Given the description of an element on the screen output the (x, y) to click on. 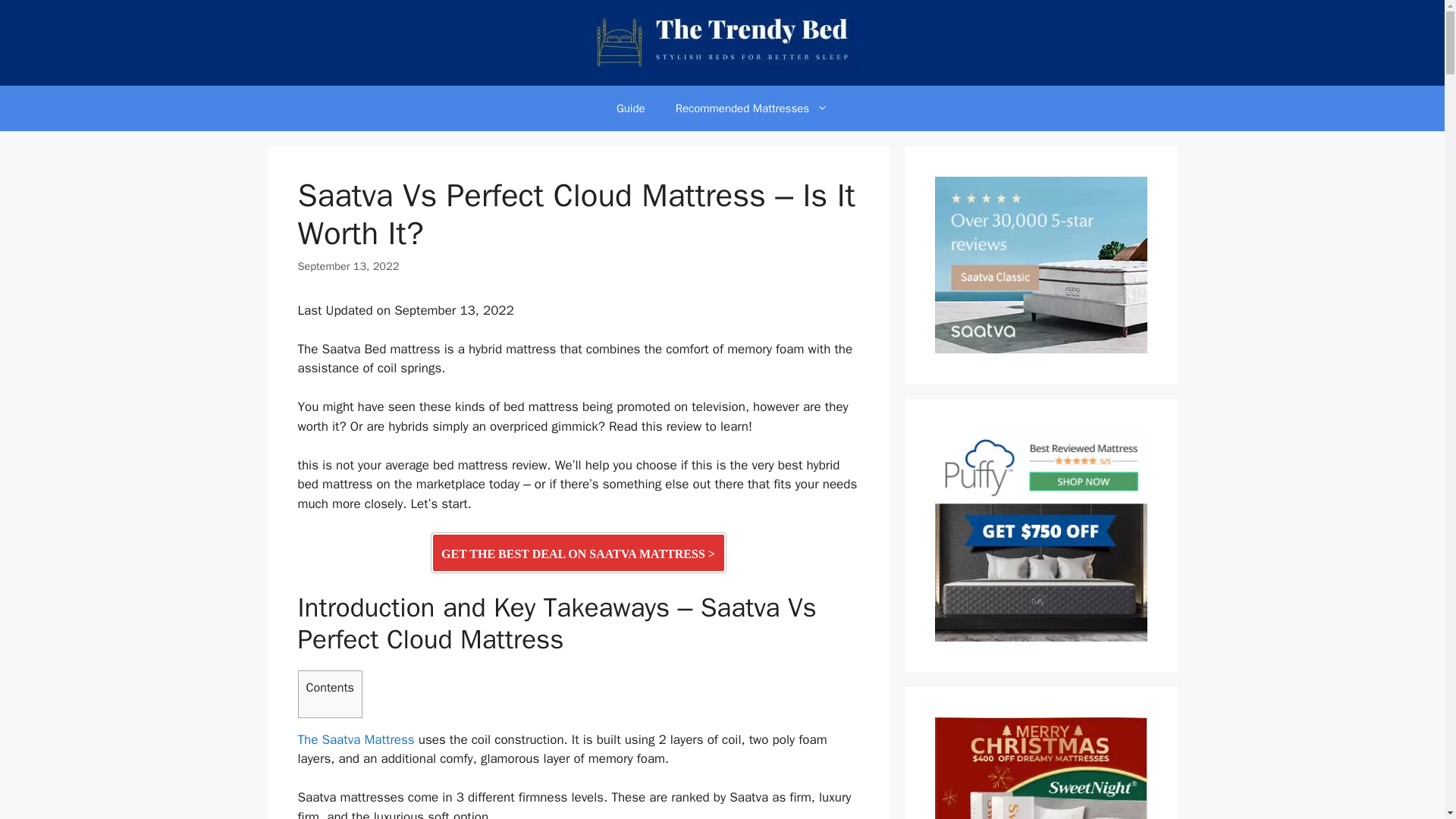
Recommended Mattresses (752, 108)
The Saatva Mattress (355, 739)
Guide (631, 108)
